Given the description of an element on the screen output the (x, y) to click on. 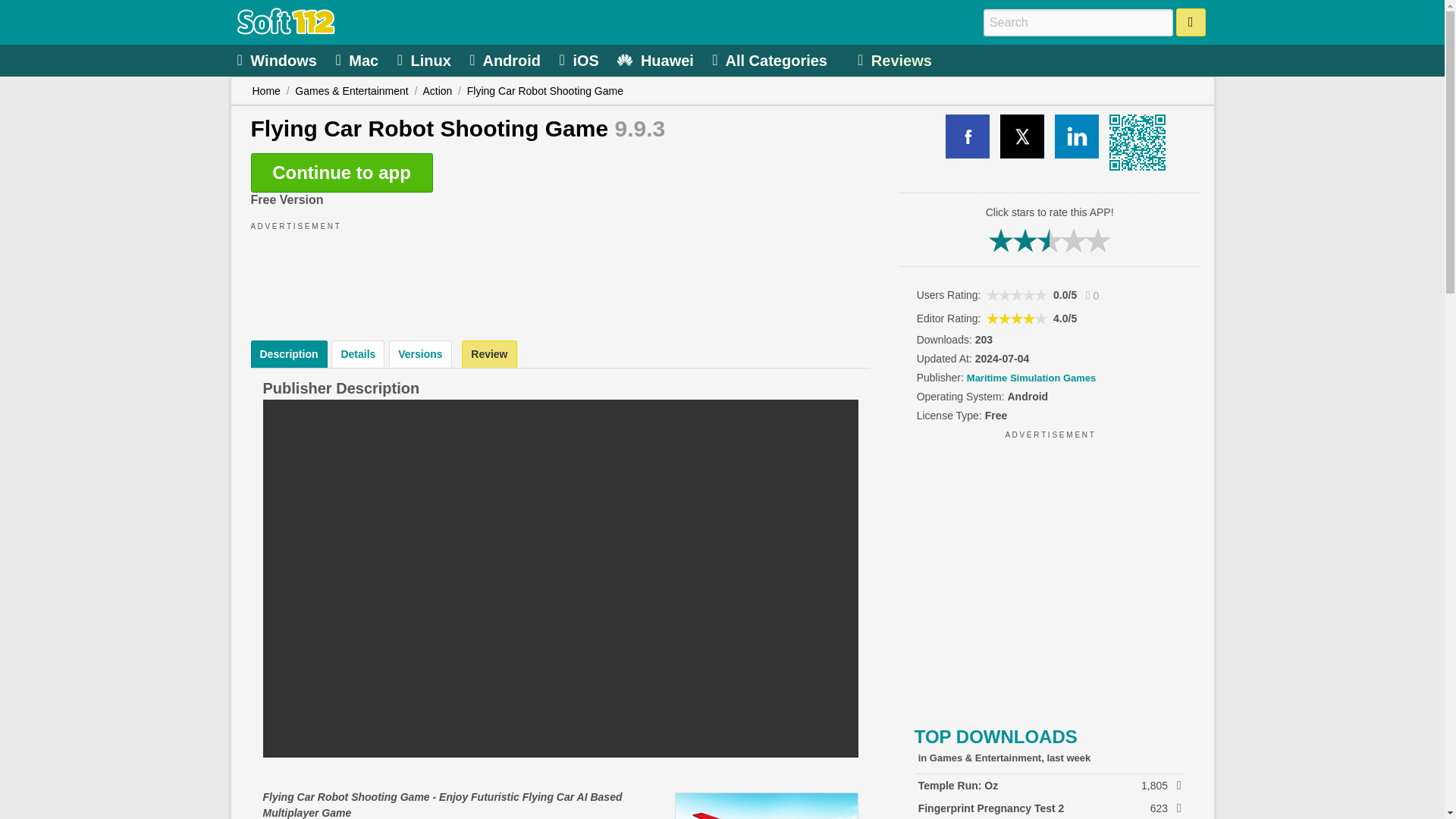
Maritime Simulation Games (1031, 378)
Mac (357, 59)
All Categories (771, 59)
Reviews (896, 59)
Home Page (284, 30)
Huawei (657, 59)
Action (436, 91)
Search (1190, 22)
Share on Twitter (1021, 136)
Windows (277, 59)
Description (288, 353)
Flying Car Robot Shooting Game (545, 91)
Linux (425, 59)
Flying Car Robot Shooting Game 9.9.3 Screenshot - 1 of 4 (767, 805)
Share on Facebook (967, 136)
